Given the description of an element on the screen output the (x, y) to click on. 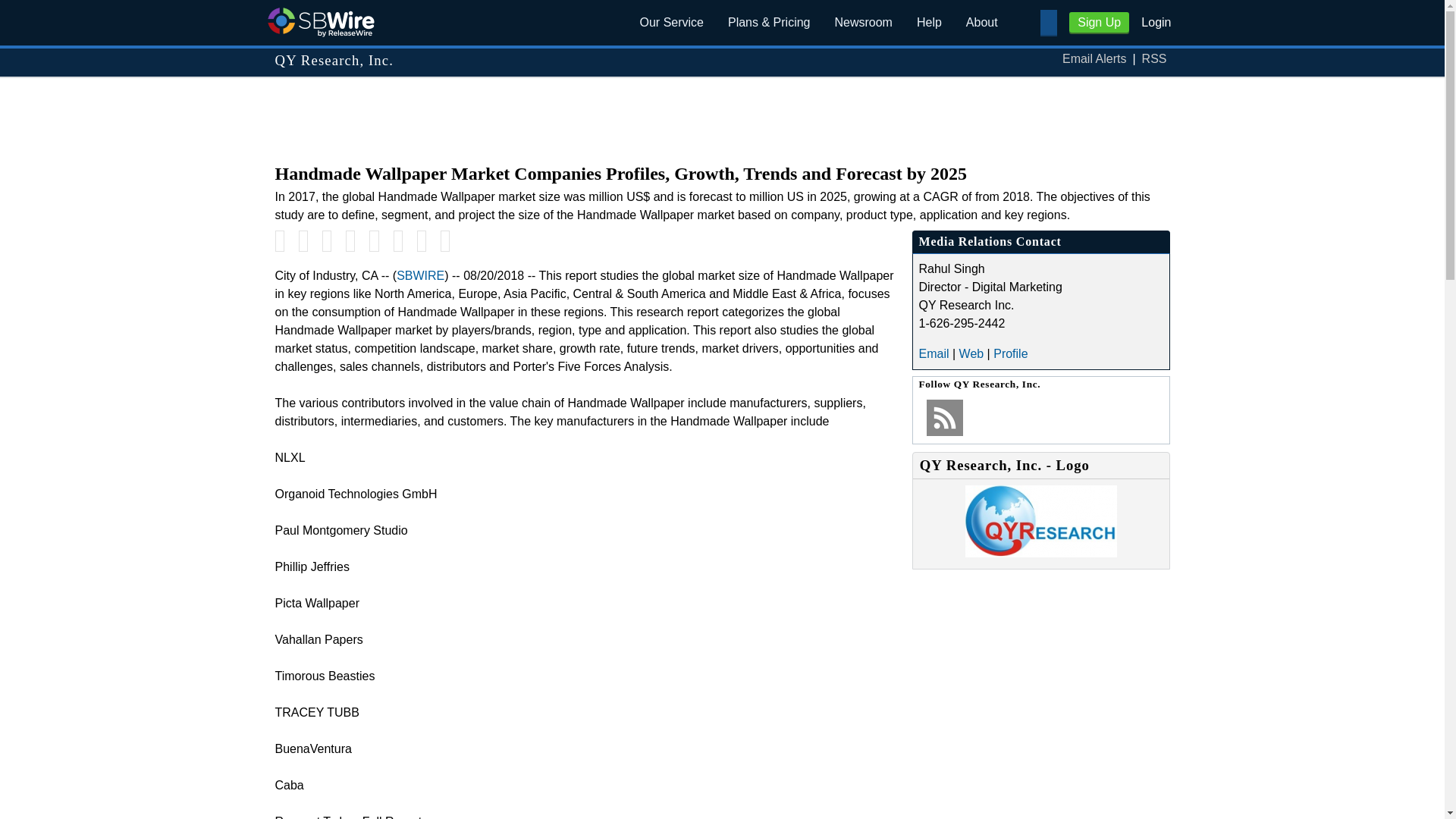
Web (971, 353)
Advertisement (721, 111)
SBWIRE (420, 275)
Newsroom (863, 22)
RSS (1154, 58)
Email (933, 353)
Profile (1009, 353)
QY Research, Inc. - Logo (1039, 553)
SBWire (320, 21)
Our Service (671, 22)
Email Alerts (1093, 58)
Sign Up (1098, 22)
Help (928, 22)
About (981, 22)
Login (1155, 21)
